Given the description of an element on the screen output the (x, y) to click on. 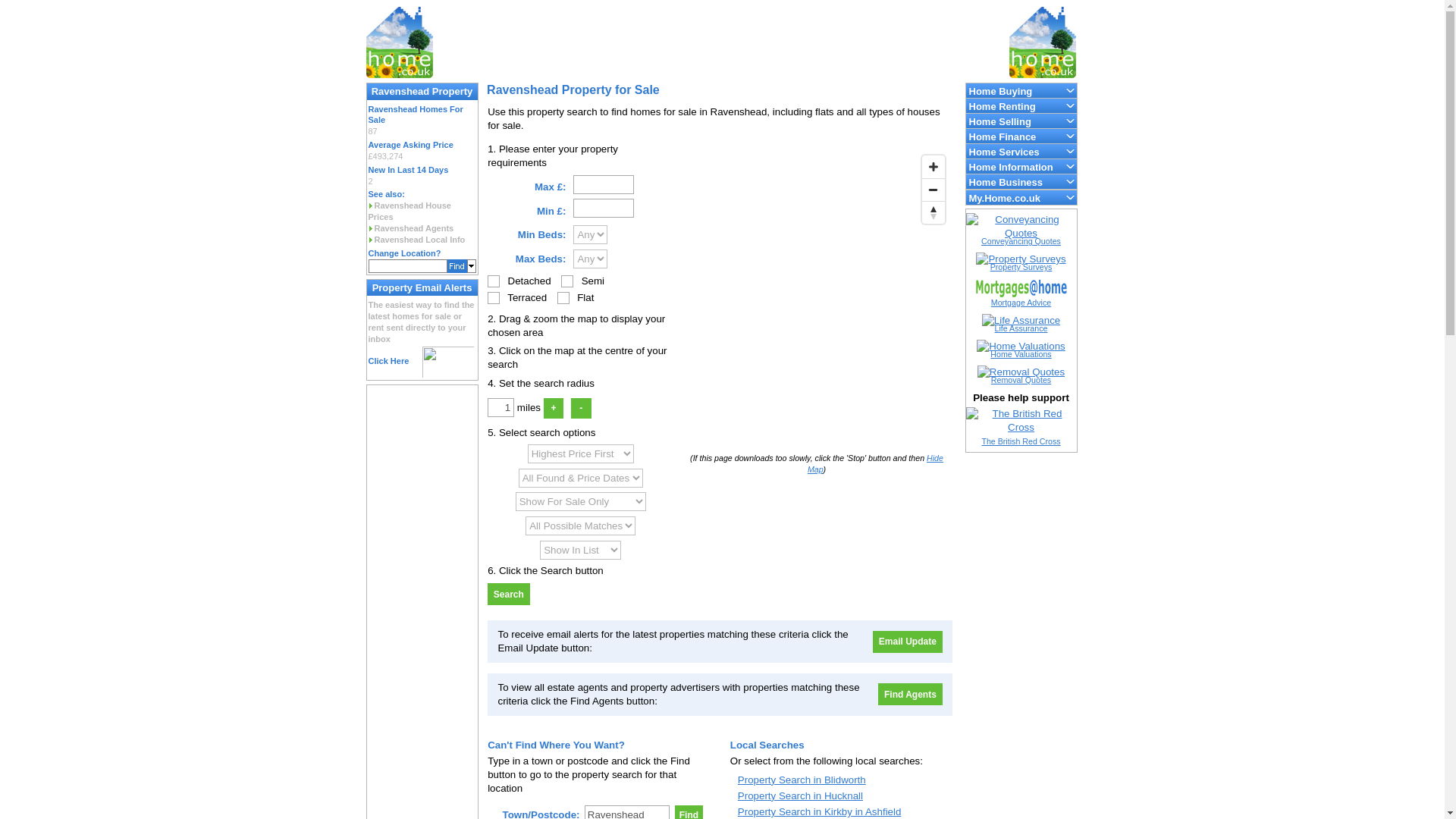
Email Update (907, 641)
true (493, 281)
Zoom out (932, 189)
Property Search in Hucknall (800, 795)
Email Update (907, 641)
Zoom in (932, 166)
Find (689, 812)
Ravenshead (627, 812)
Find Agents (909, 694)
Find (689, 812)
